Given the description of an element on the screen output the (x, y) to click on. 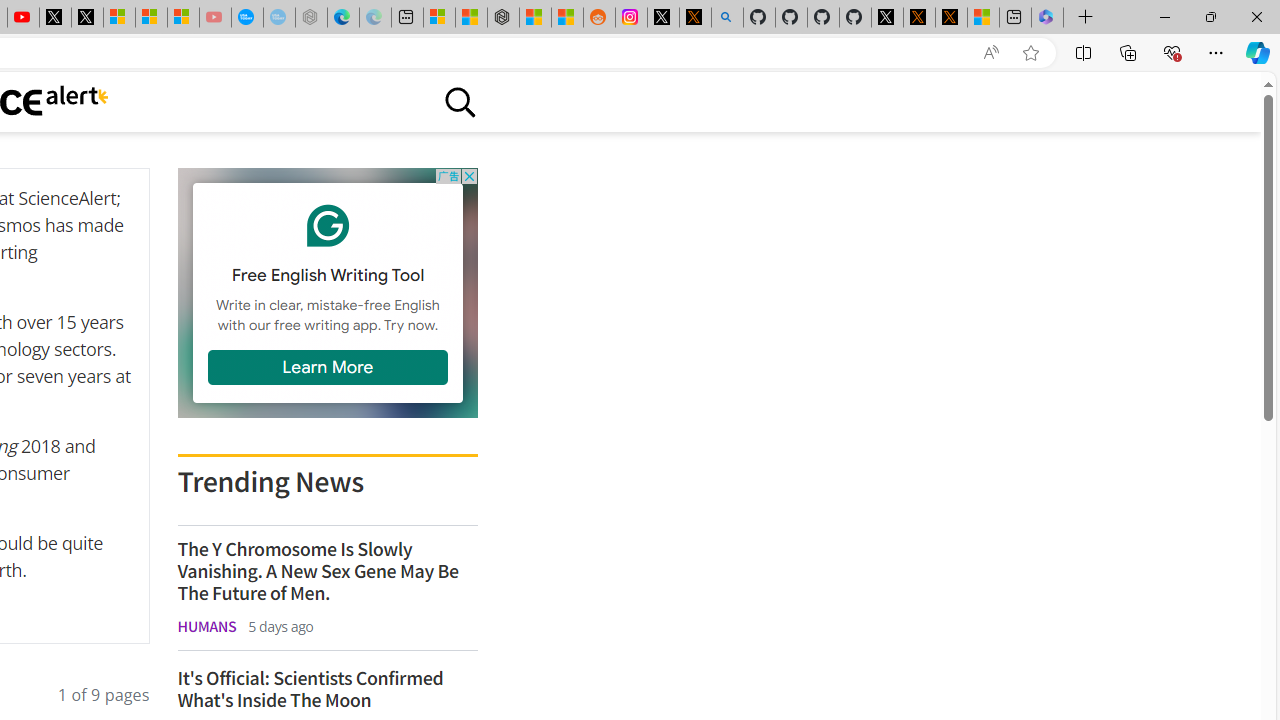
It's Official: Scientists Confirmed What's Inside The Moon (326, 688)
Nordace - Duffels (502, 17)
X Privacy Policy (950, 17)
